Given the description of an element on the screen output the (x, y) to click on. 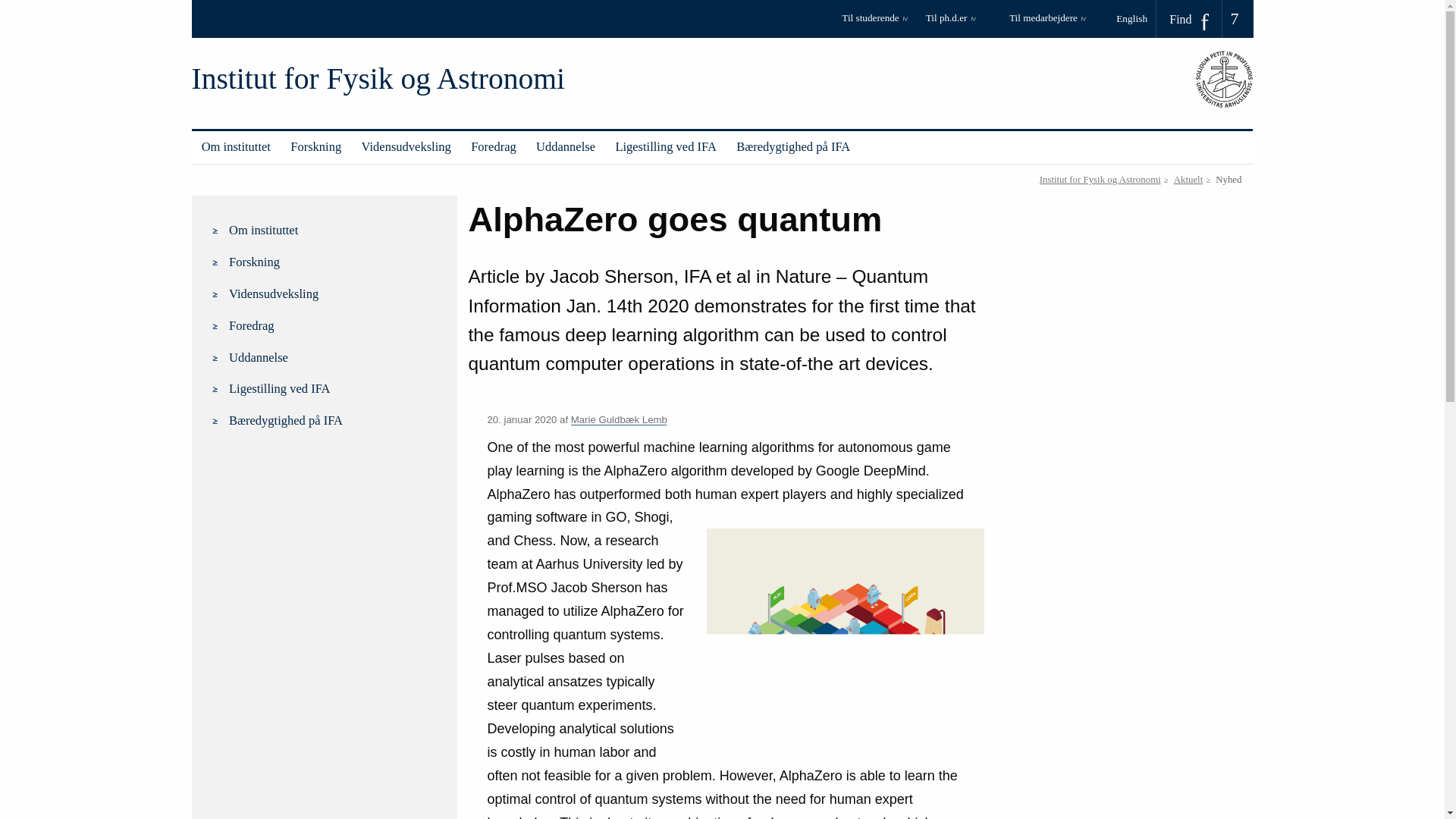
Vidensudveksling (405, 147)
Til medarbejdere (1047, 23)
Find (1189, 19)
Institut for Fysik og Astronomi (377, 78)
Til studerende (879, 22)
English (1136, 18)
Om instituttet (235, 147)
Foredrag (493, 147)
Til ph.d.er (964, 22)
Forskning (315, 147)
